Given the description of an element on the screen output the (x, y) to click on. 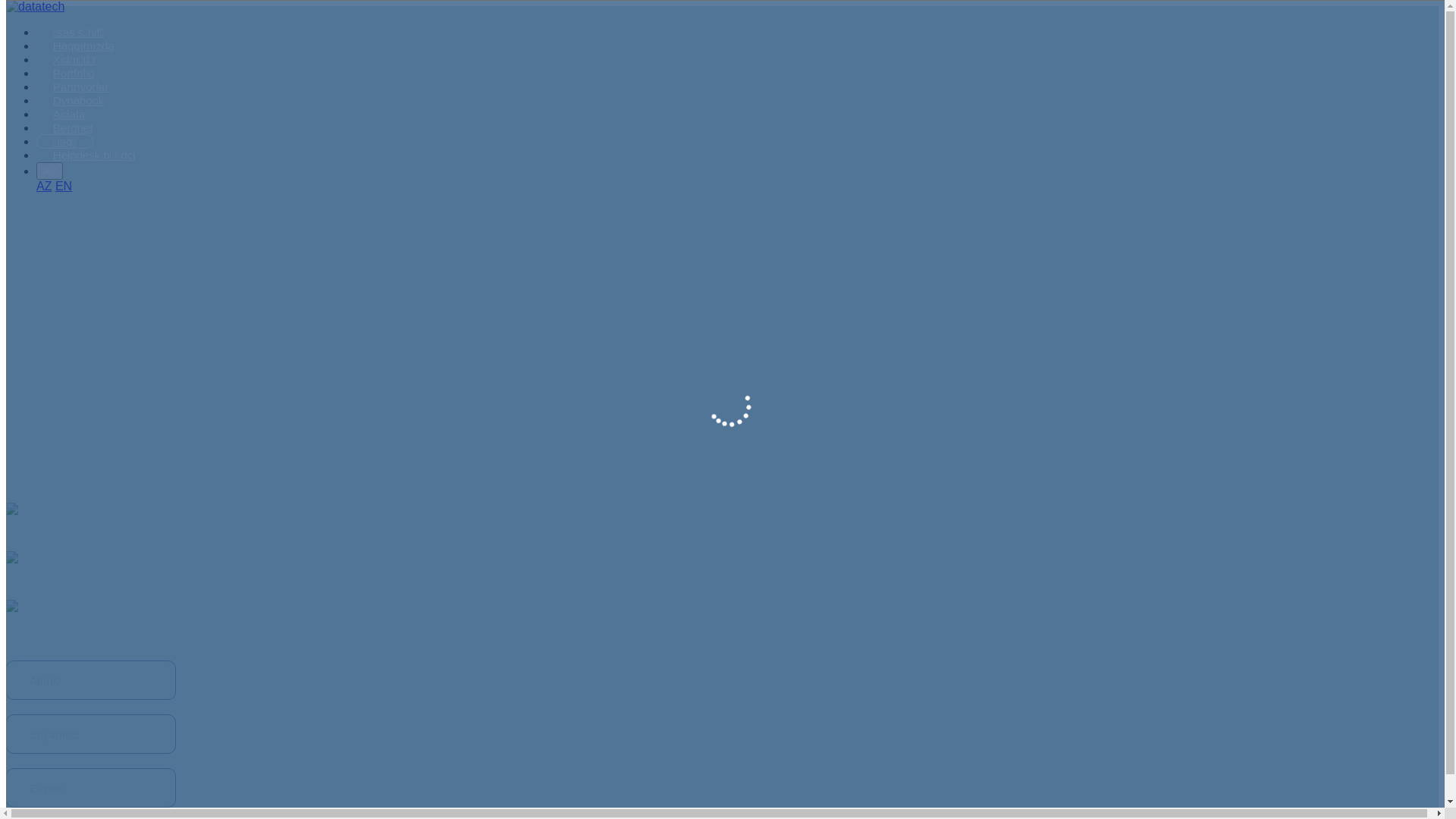
Portfolio Element type: text (73, 72)
Aidata Element type: text (68, 113)
Berqnet Element type: text (72, 127)
Partnyorlar Element type: text (80, 86)
EN Element type: text (63, 185)
Dynabook Element type: text (78, 100)
AZ Element type: text (43, 185)
AZ Element type: text (49, 170)
